Given the description of an element on the screen output the (x, y) to click on. 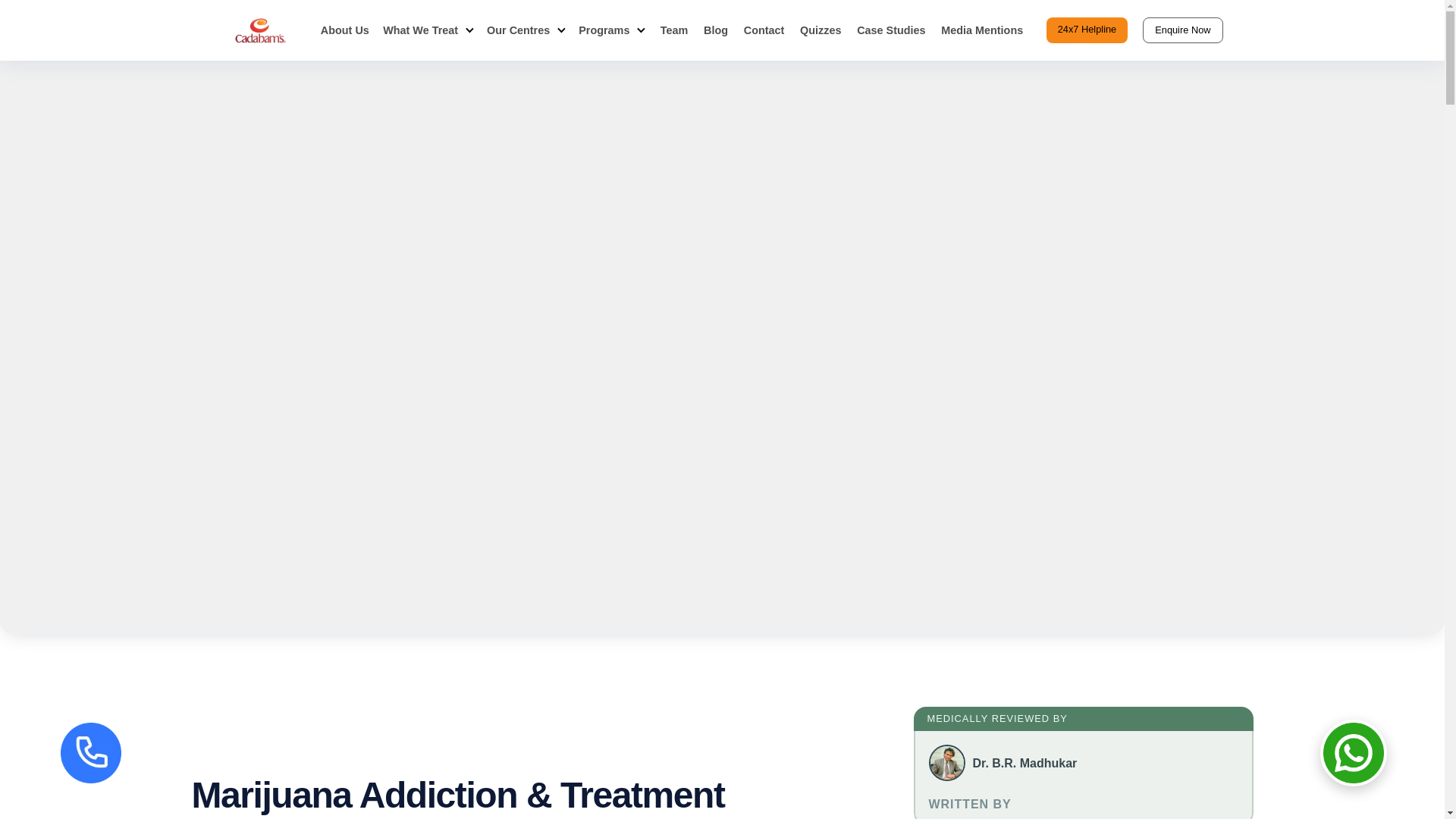
About Us (344, 30)
